Given the description of an element on the screen output the (x, y) to click on. 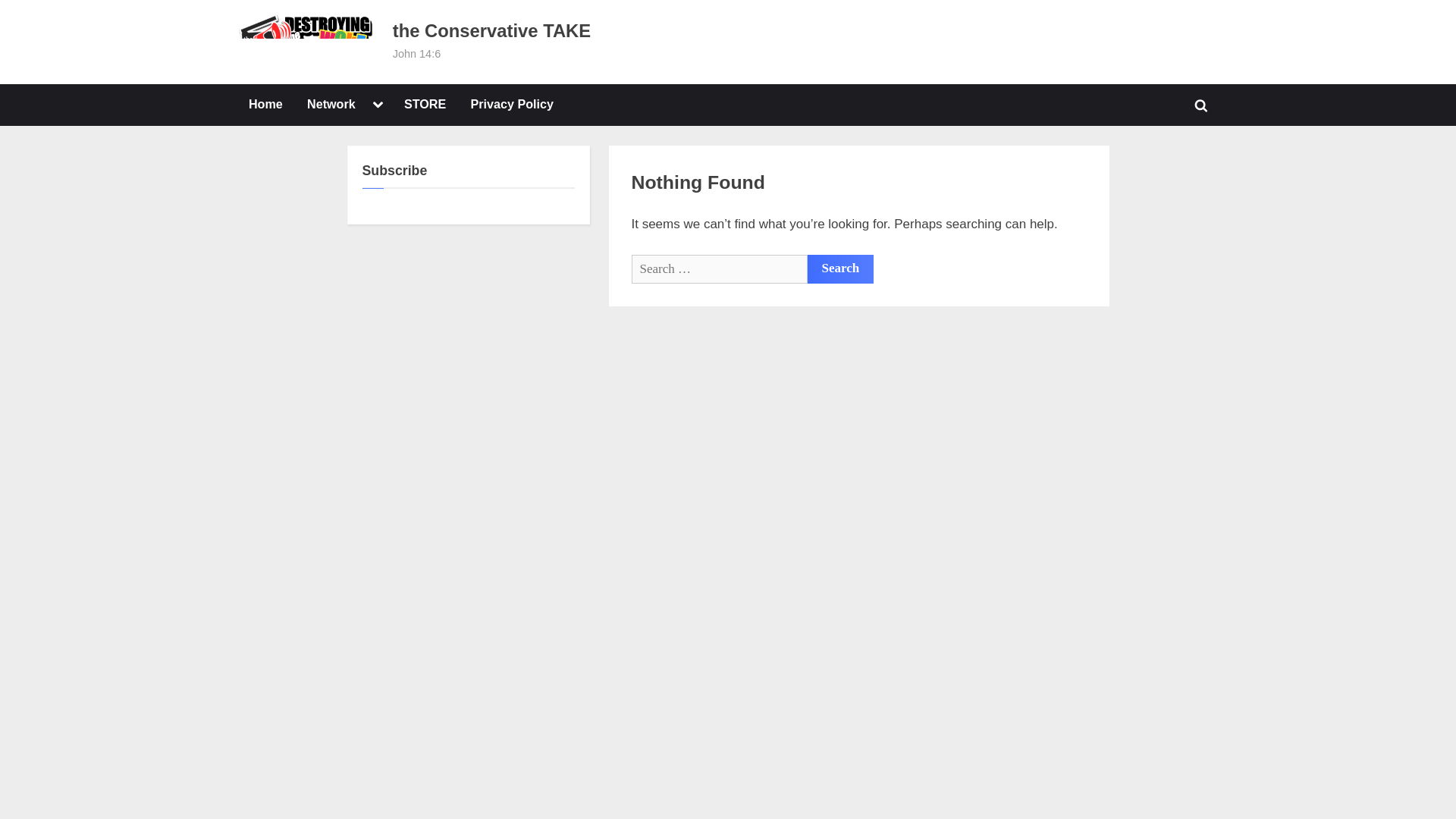
the Conservative TAKE (492, 30)
Search (839, 268)
Toggle search form (1201, 104)
Search (839, 268)
Privacy Policy (512, 105)
Search (839, 268)
STORE (424, 105)
Home (265, 105)
Toggle sub-menu (378, 105)
Network (331, 105)
